Given the description of an element on the screen output the (x, y) to click on. 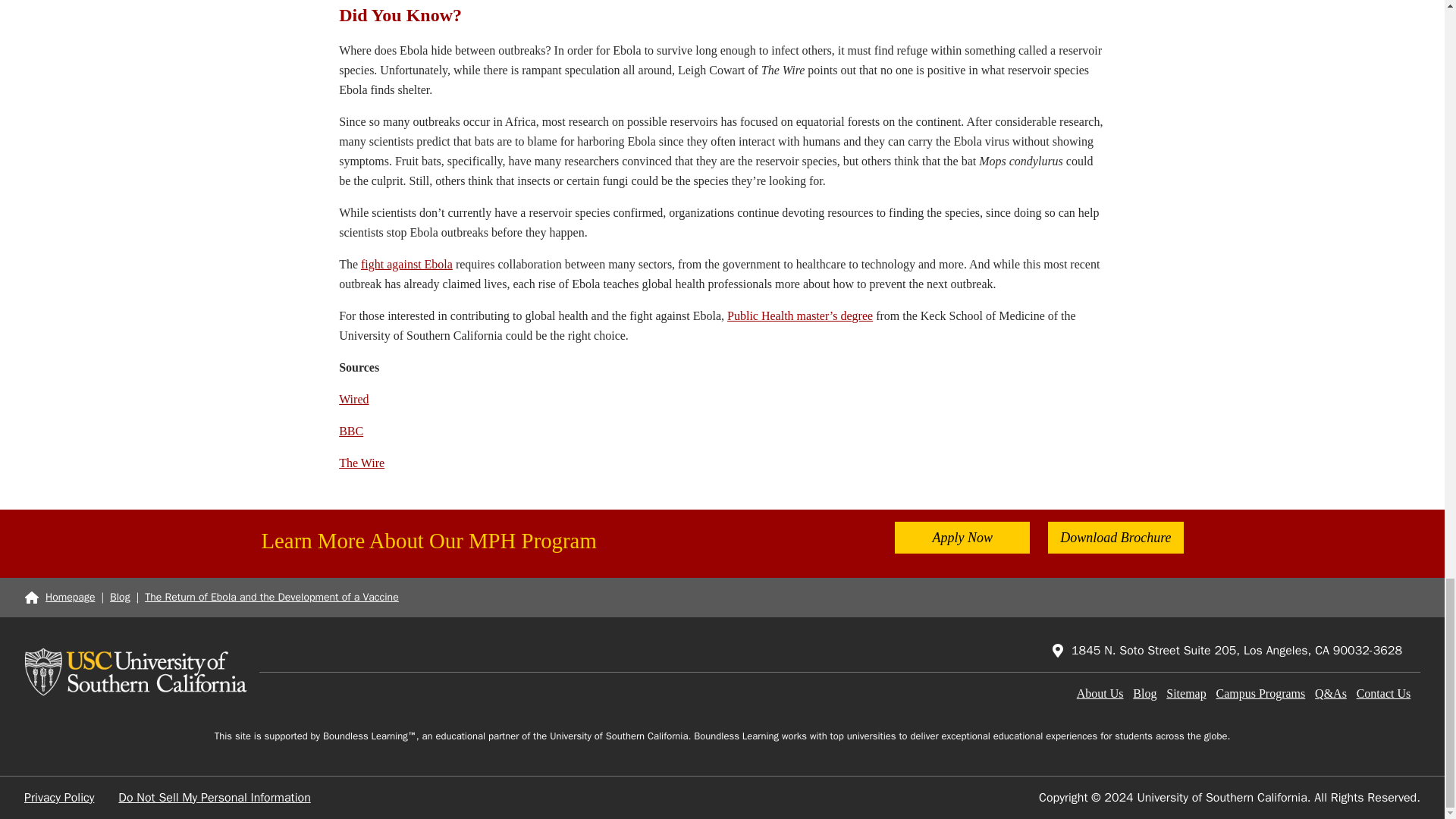
Wired (353, 399)
The Wire (361, 462)
fight against Ebola (406, 264)
Campus Programs (1260, 693)
Blog (120, 597)
Sitemap (1185, 693)
The Return of Ebola and the Development of a Vaccine (270, 597)
About Us (1100, 693)
Blog (1144, 693)
Homepage (59, 597)
